Given the description of an element on the screen output the (x, y) to click on. 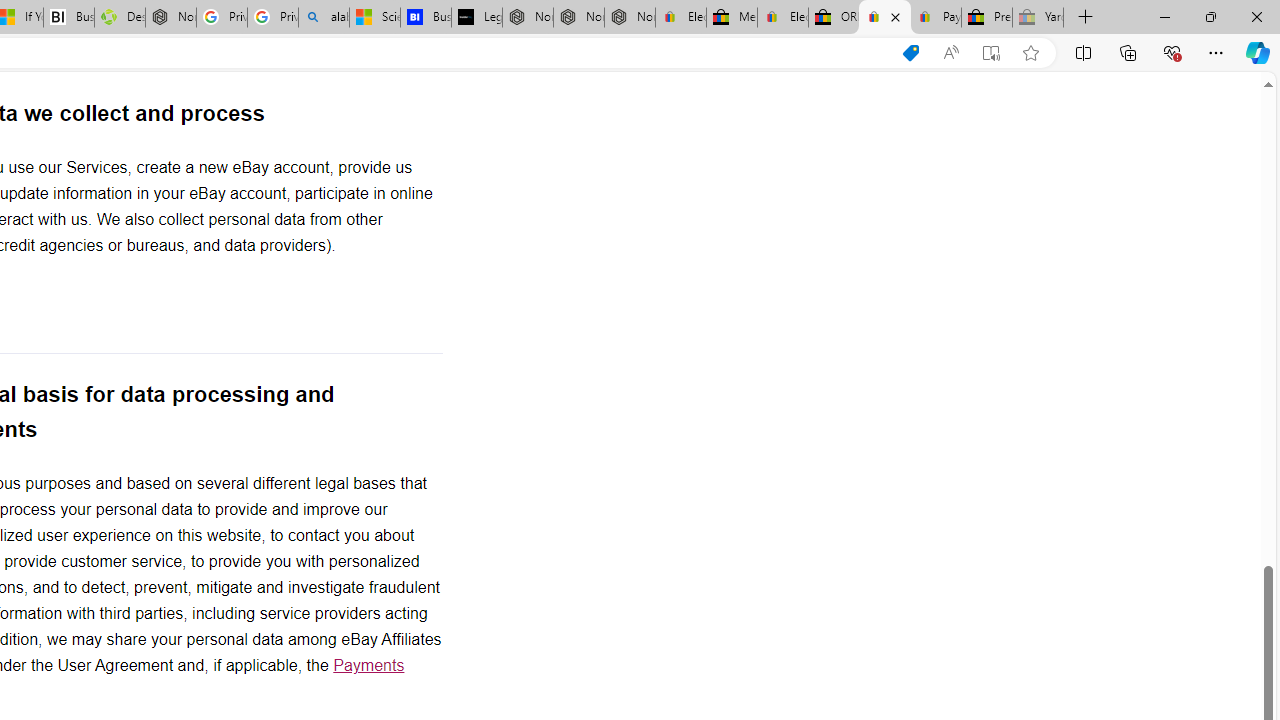
Press Room - eBay Inc. (987, 17)
Payments Terms of Use | eBay.com (936, 17)
Descarga Driver Updater (119, 17)
Yard, Garden & Outdoor Living - Sleeping (1037, 17)
This site has coupons! Shopping in Microsoft Edge (910, 53)
Nordace - My Account (170, 17)
alabama high school quarterback dies - Search (324, 17)
